Given the description of an element on the screen output the (x, y) to click on. 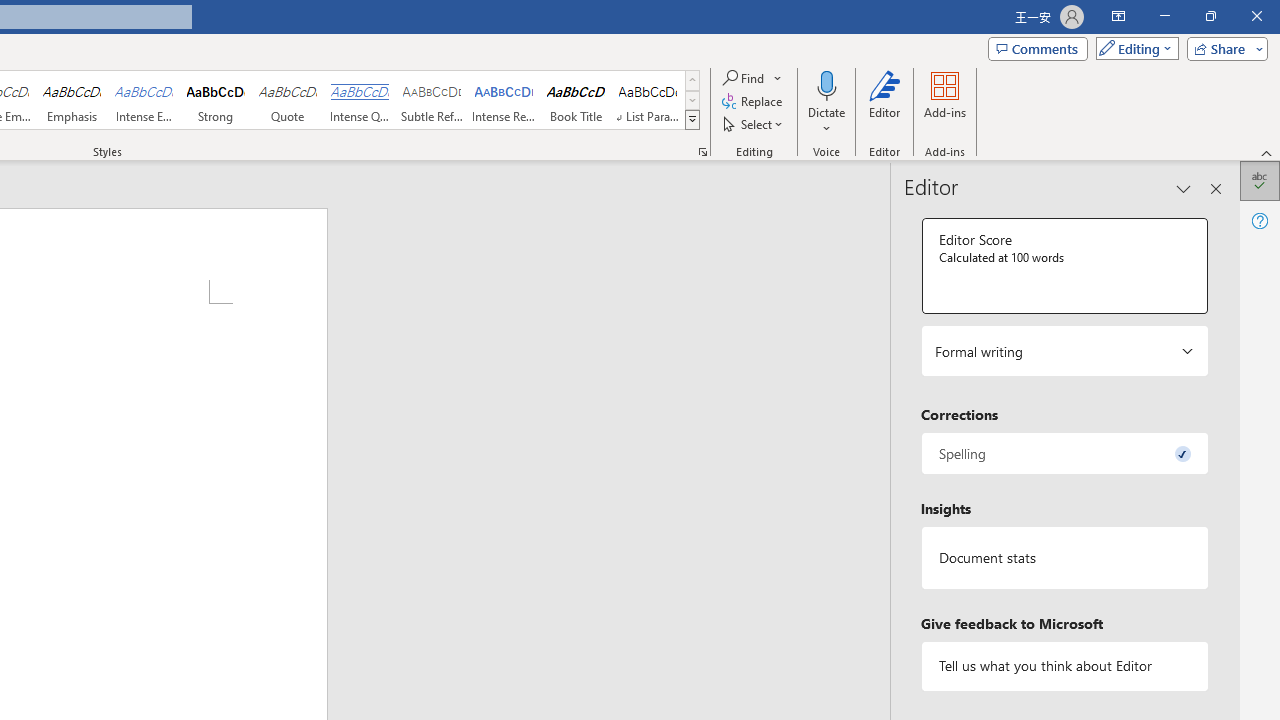
Subtle Reference (431, 100)
Intense Emphasis (143, 100)
Styles (692, 120)
Row up (692, 79)
Intense Reference (504, 100)
Document statistics (1064, 557)
Intense Quote (359, 100)
Spelling, 0 issues. Press space or enter to review items. (1064, 452)
Mode (1133, 47)
